Given the description of an element on the screen output the (x, y) to click on. 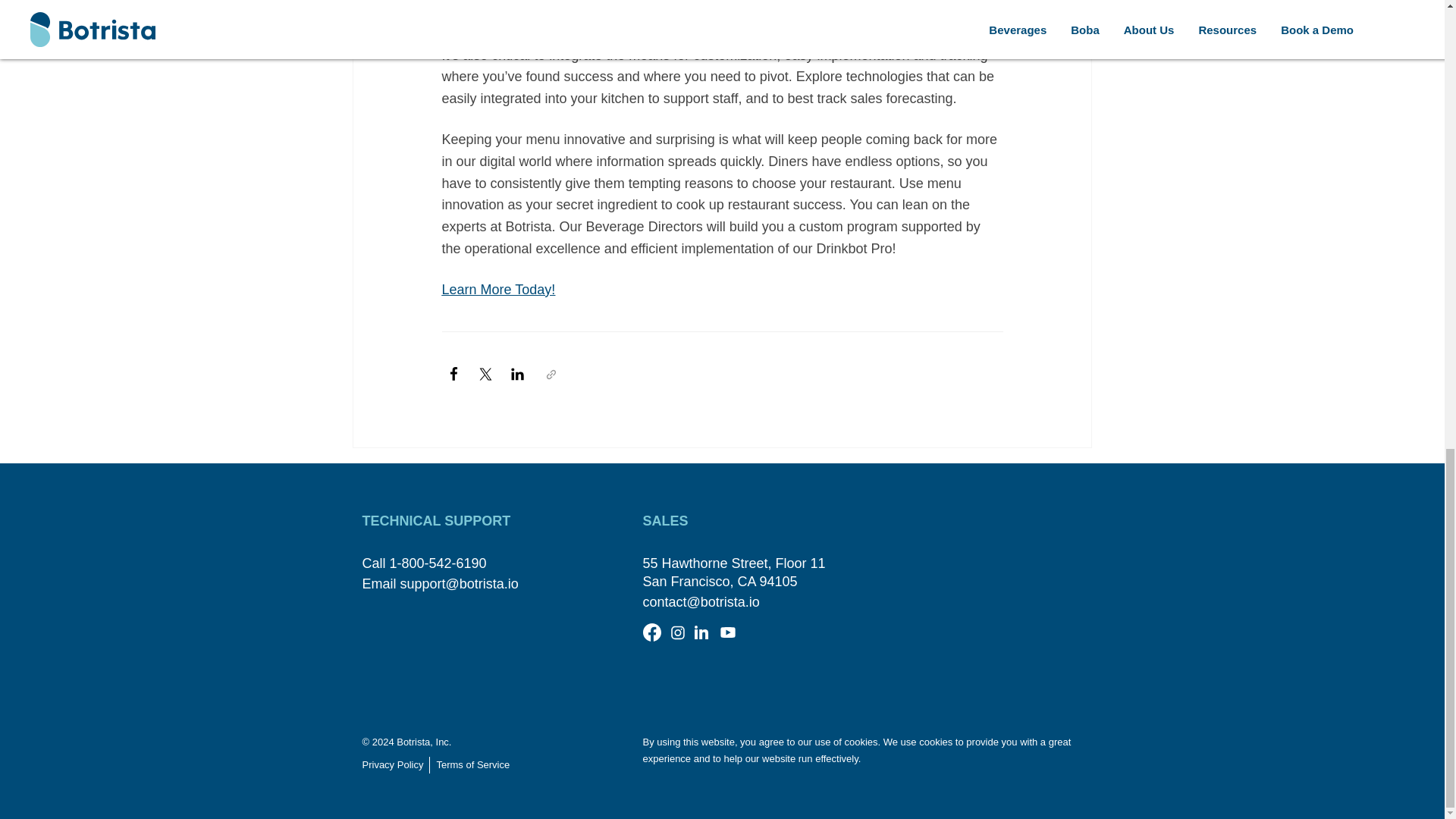
Share on LinkedIn (517, 374)
Terms of Service (472, 764)
Learn More Today! (497, 289)
1-800-542-6190 (438, 563)
Share on Twitter (485, 374)
Share on Facebook (453, 374)
Privacy Policy (396, 764)
